Given the description of an element on the screen output the (x, y) to click on. 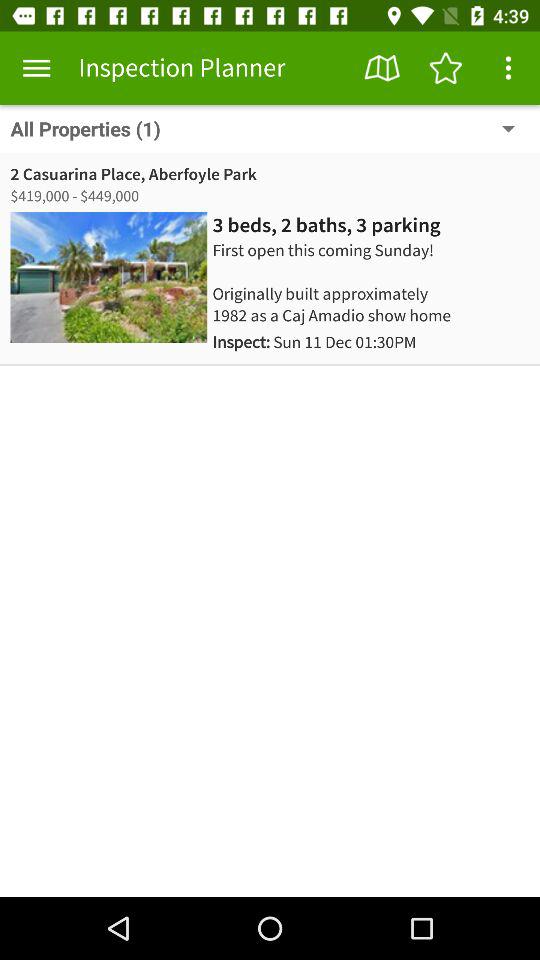
turn off the item above the 419 000 449 item (133, 174)
